Given the description of an element on the screen output the (x, y) to click on. 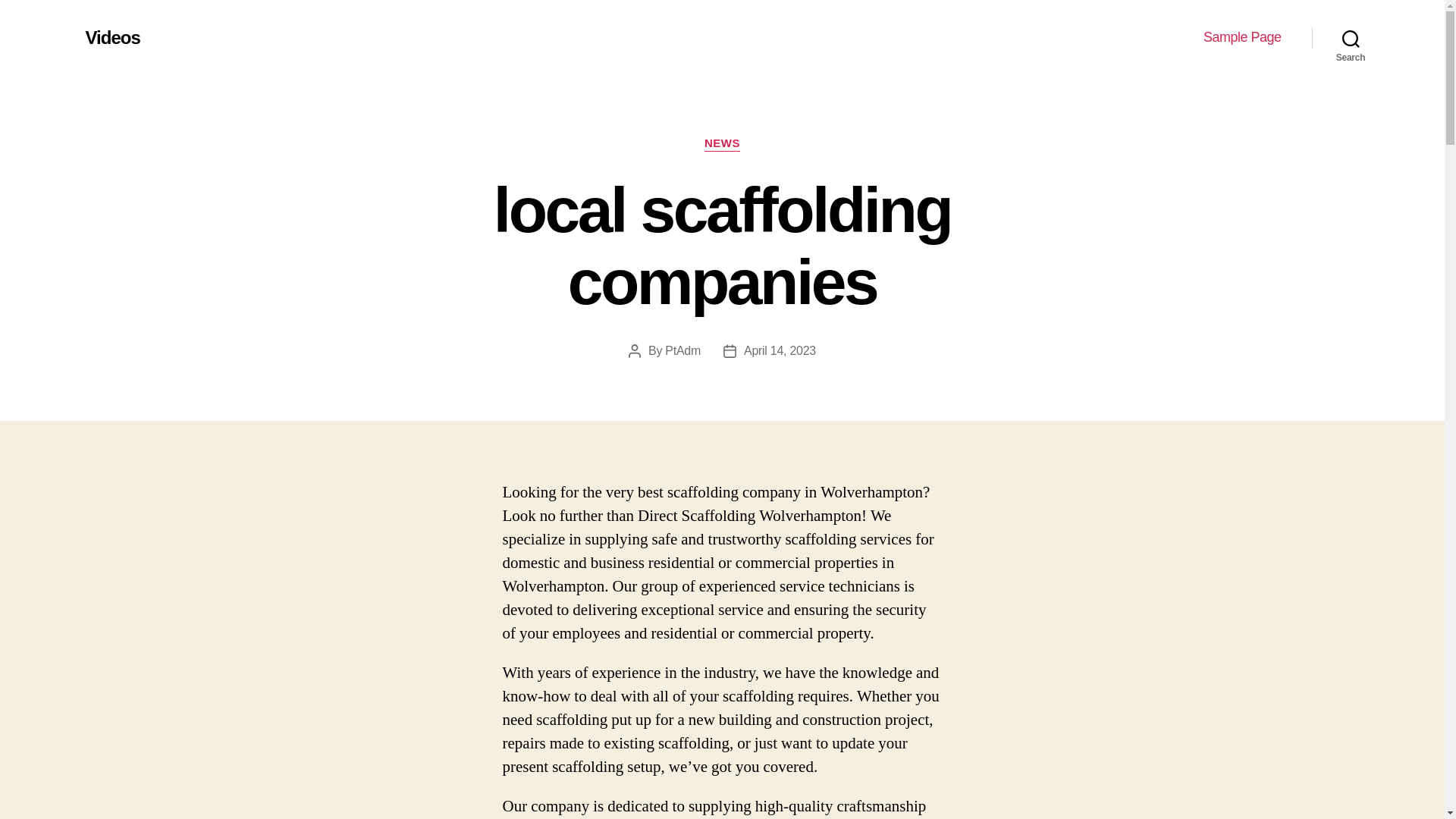
April 14, 2023 (779, 350)
Search (1350, 37)
PtAdm (682, 350)
Sample Page (1242, 37)
NEWS (721, 143)
Videos (111, 37)
